Given the description of an element on the screen output the (x, y) to click on. 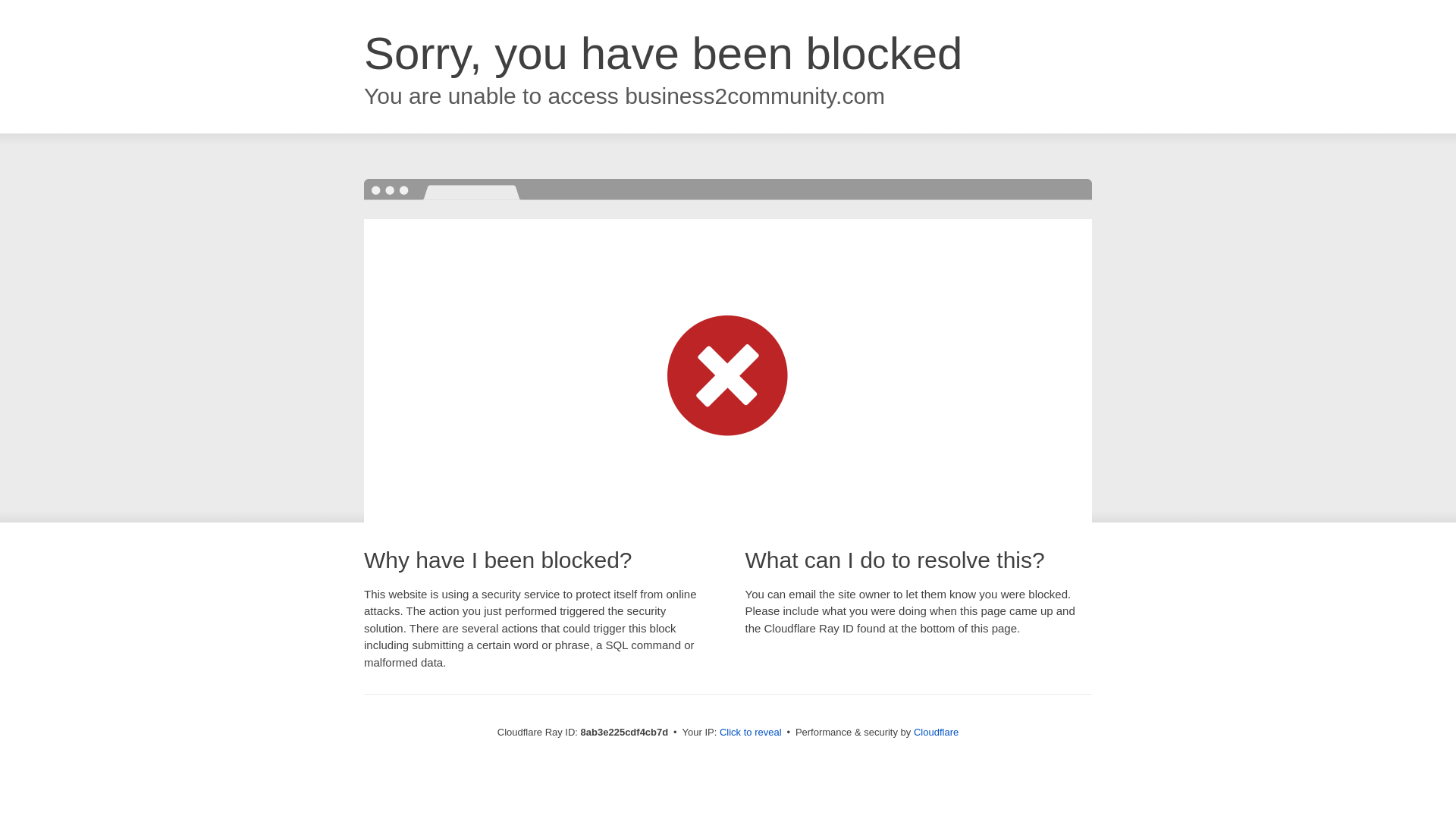
Cloudflare (936, 731)
Click to reveal (750, 732)
